Given the description of an element on the screen output the (x, y) to click on. 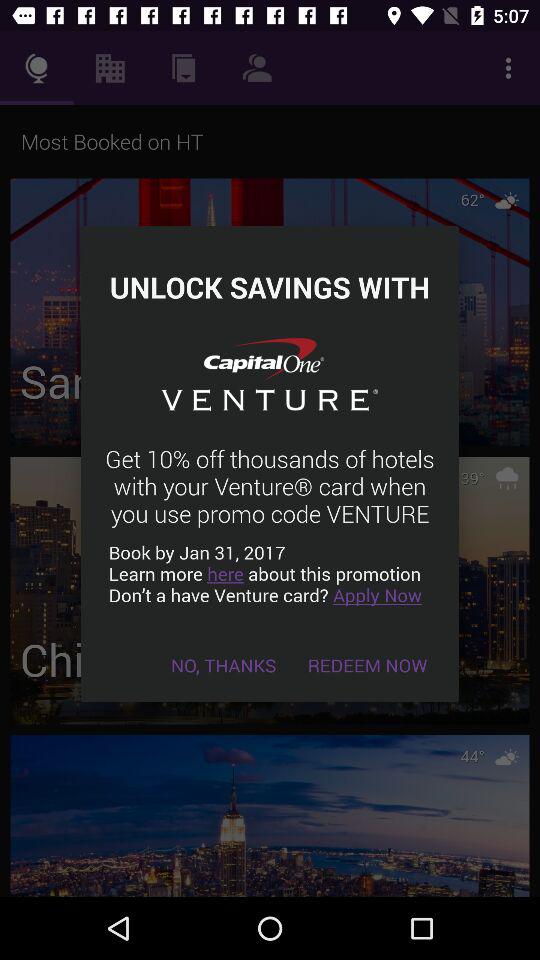
turn off the item below the get 10 off (269, 573)
